Given the description of an element on the screen output the (x, y) to click on. 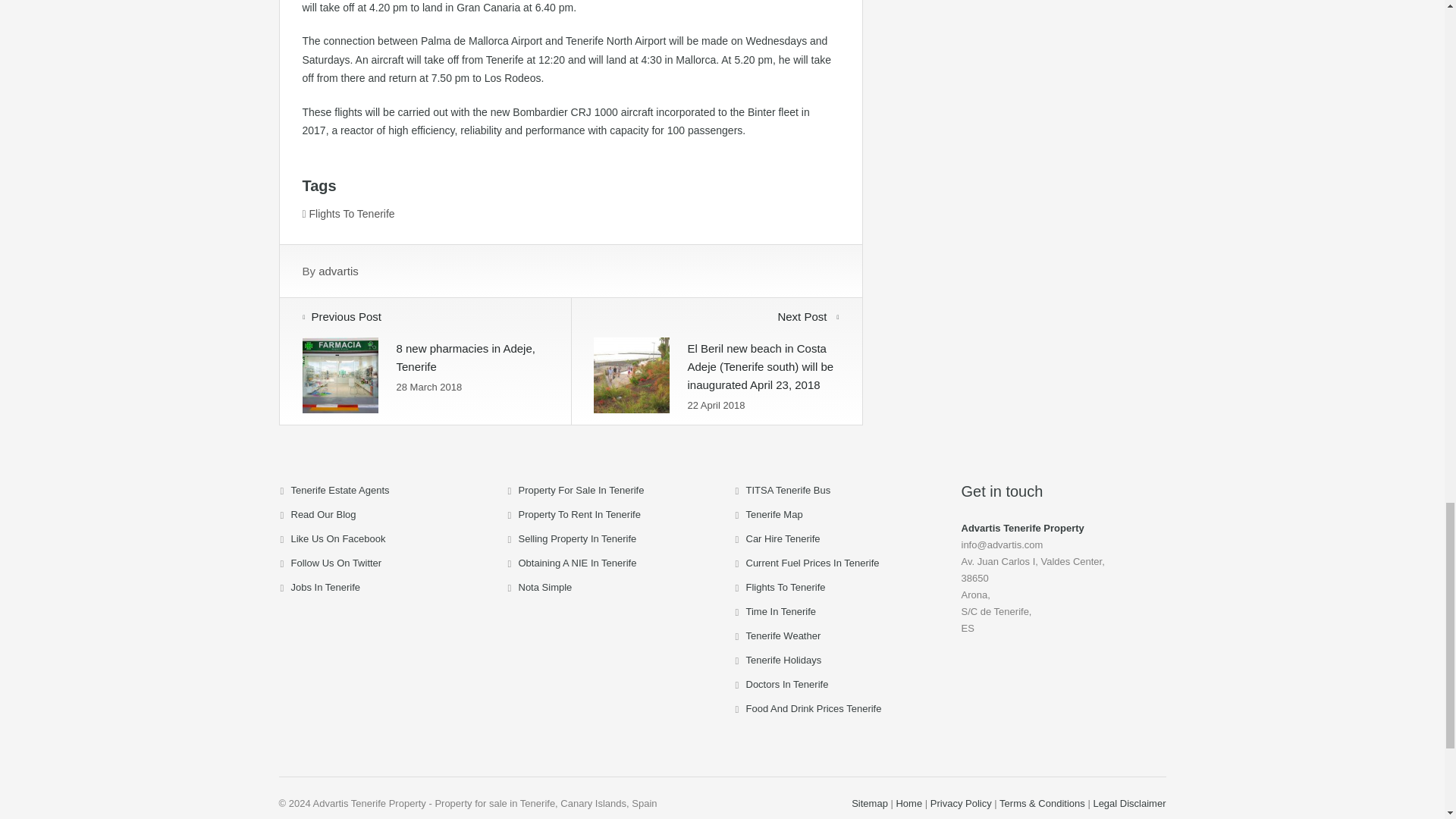
Jobs In Tenerife (326, 586)
Selling Property In Tenerife (577, 538)
Tenerife Estate Agents (340, 490)
Advartis Tenerife Property on Facebook (338, 538)
Like Us On Facebook (338, 538)
Car Hire Tenerife (783, 538)
Property For Sale In Tenerife (581, 490)
Obtaining A NIE In Tenerife (577, 562)
Follow Us On Twitter (336, 562)
